Given the description of an element on the screen output the (x, y) to click on. 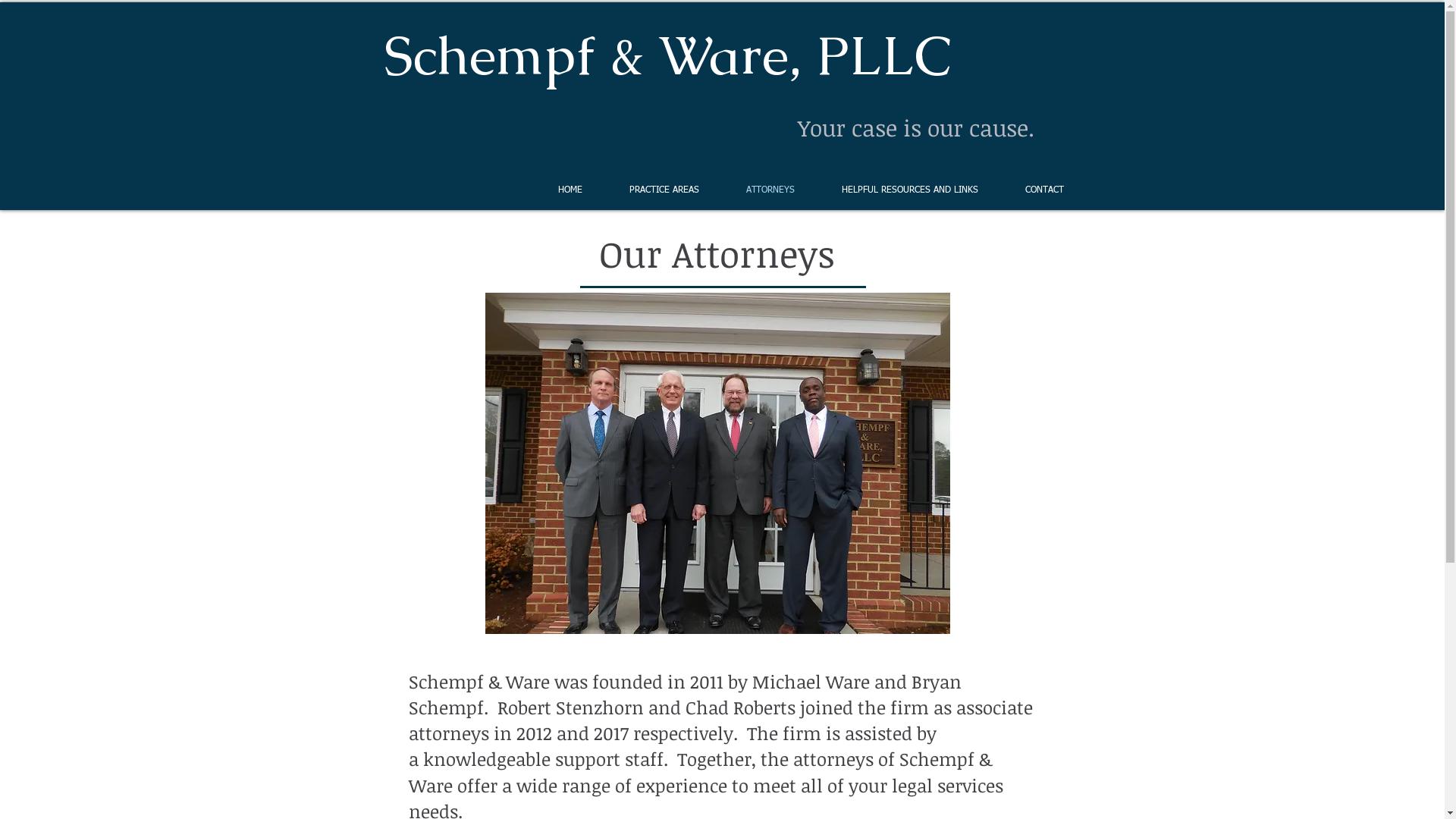
HOME Element type: text (569, 190)
ATTORNEYS Element type: text (769, 190)
PRACTICE AREAS Element type: text (663, 190)
HELPFUL RESOURCES AND LINKS Element type: text (909, 190)
CONTACT Element type: text (1043, 190)
